Given the description of an element on the screen output the (x, y) to click on. 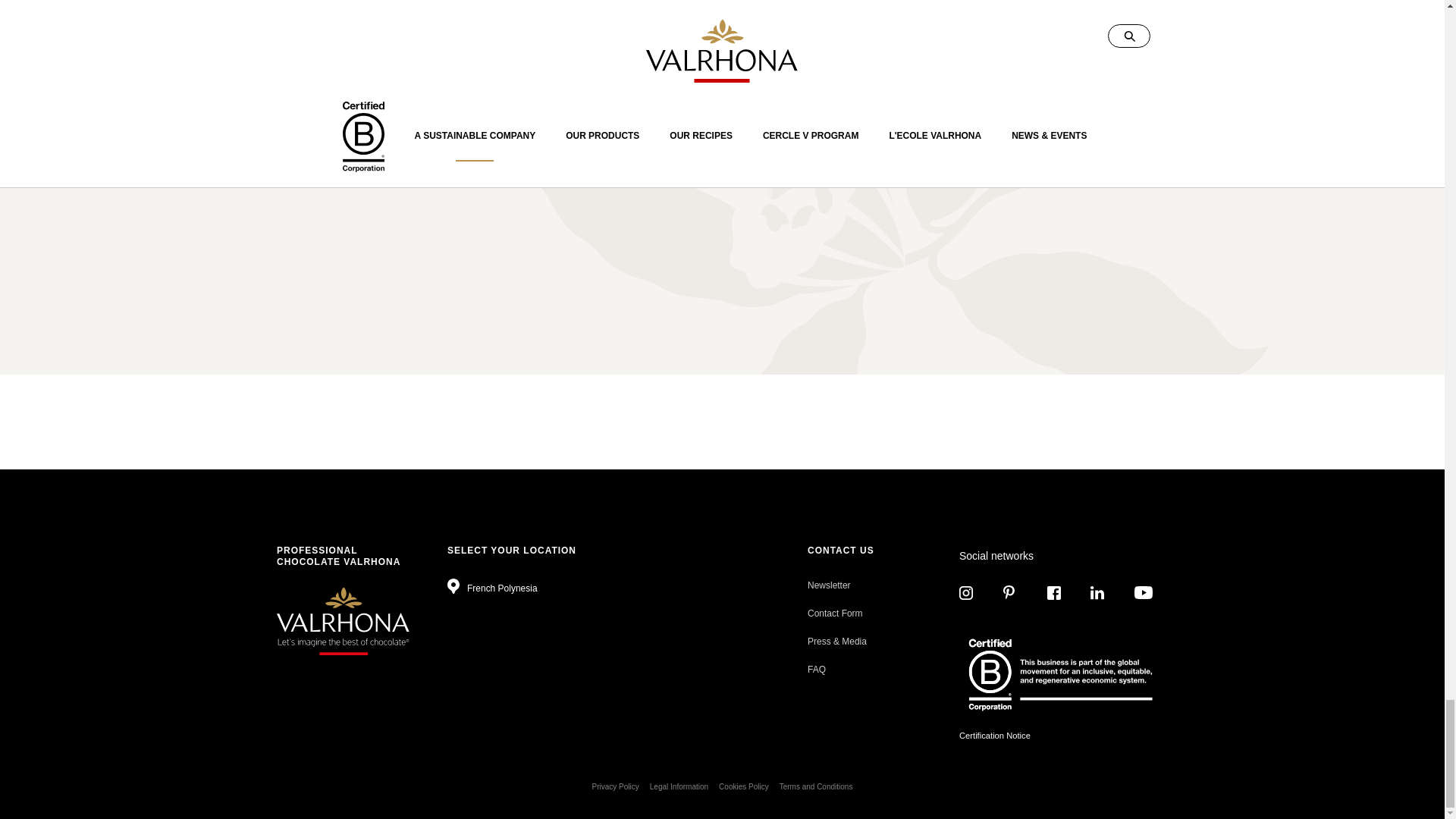
Youtube Created with sketchtool. (1143, 592)
LinkedIn Created with sketchtool. (1096, 592)
Facebook Created with sketchtool. (1053, 592)
Instagram Created with sketchtool. (965, 592)
